Given the description of an element on the screen output the (x, y) to click on. 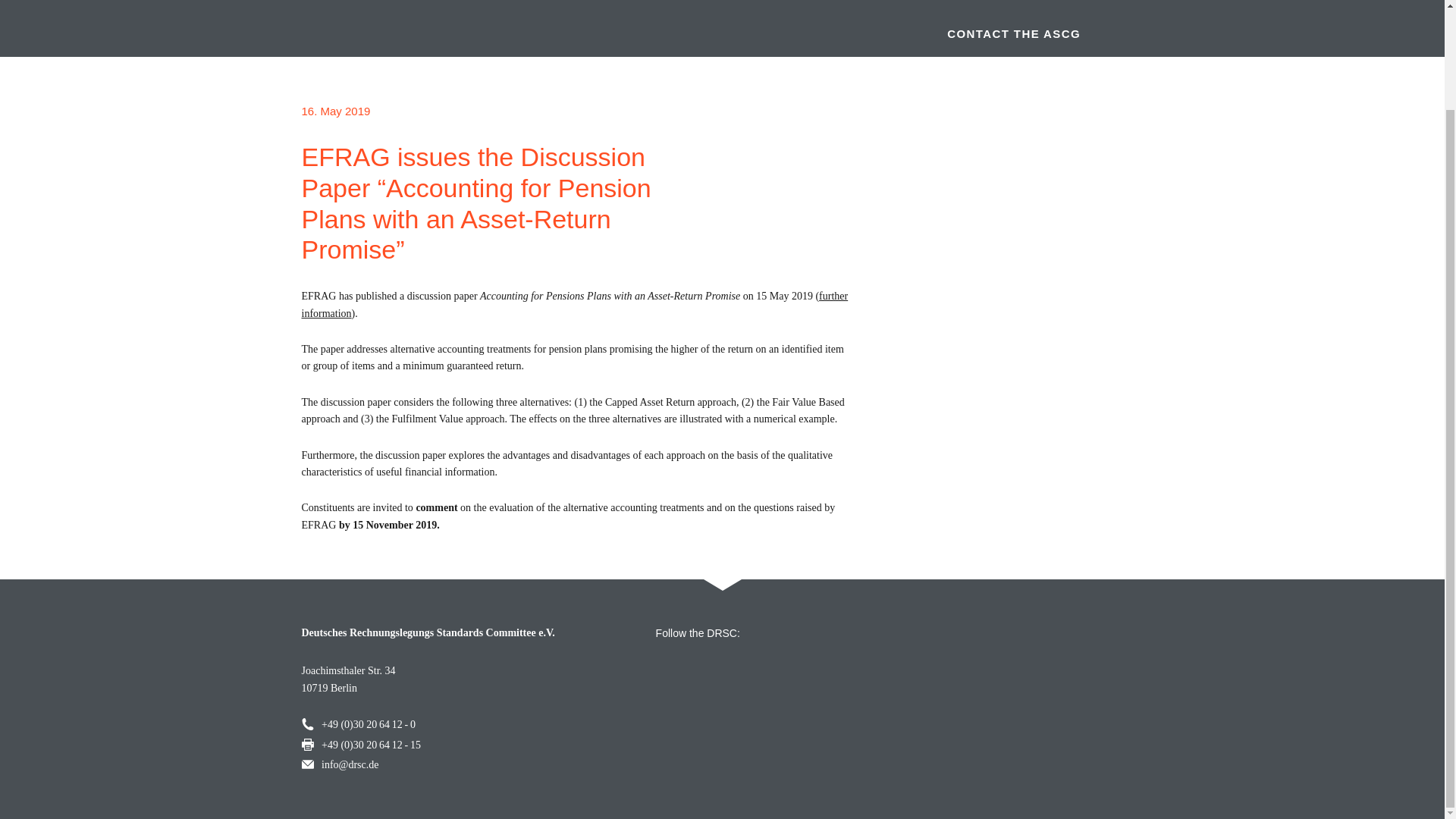
CONTACT THE ASCG (1005, 33)
OUR ACTIVITIES (644, 5)
further information (574, 304)
ABOUT THE ASCG (455, 5)
